Given the description of an element on the screen output the (x, y) to click on. 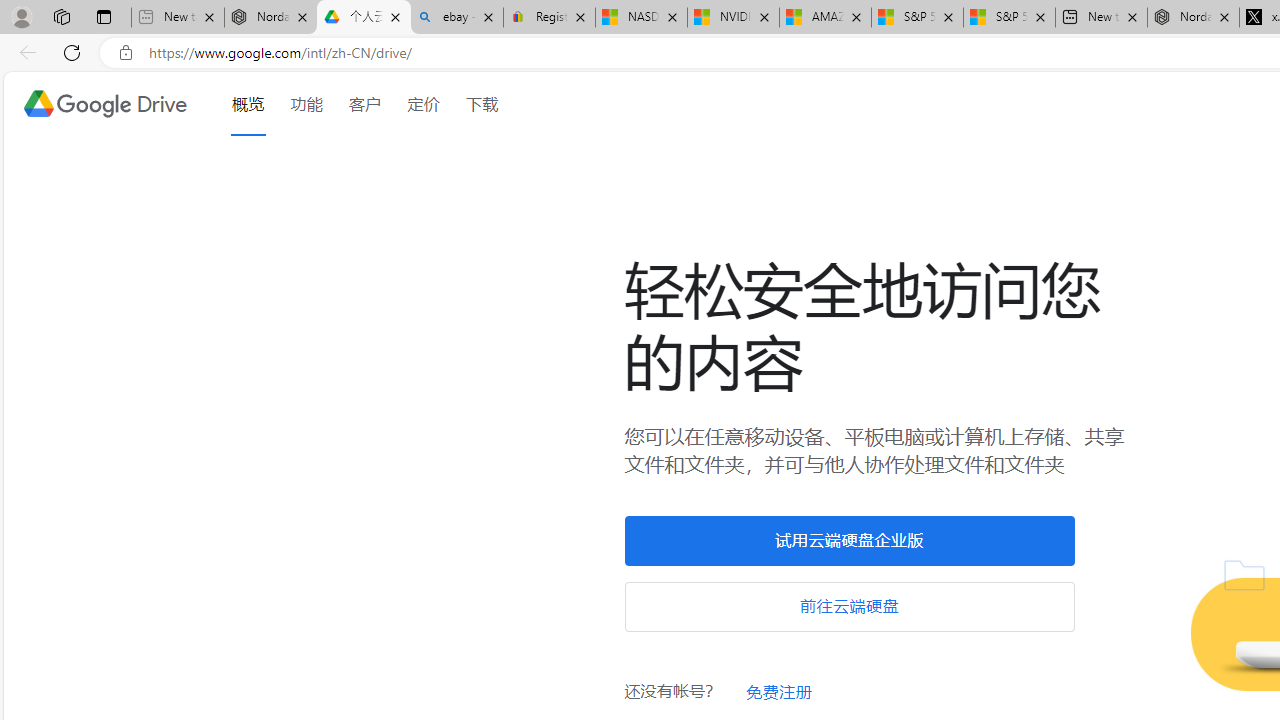
Register: Create a personal eBay account (549, 17)
